Given the description of an element on the screen output the (x, y) to click on. 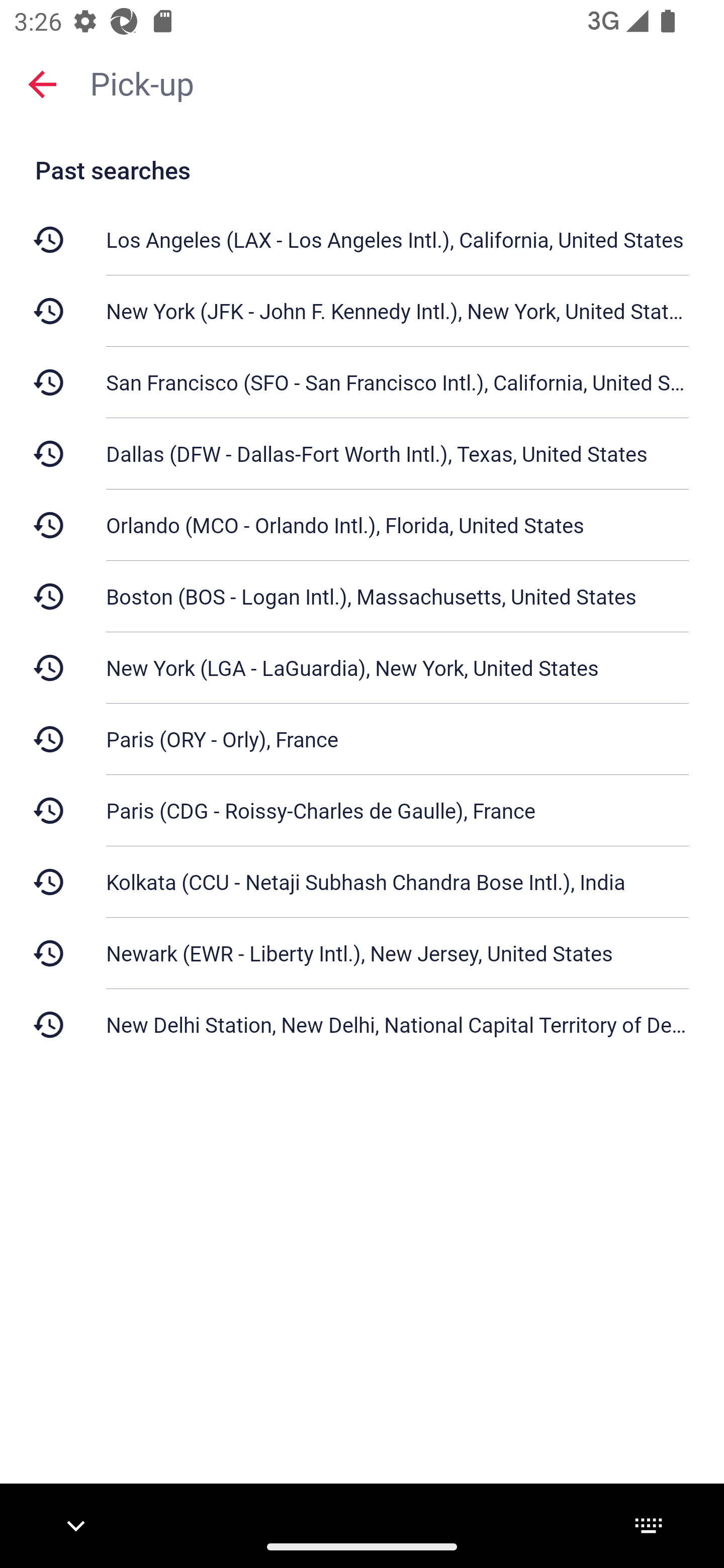
Pick-up,  (397, 82)
Close search screen (41, 83)
